Given the description of an element on the screen output the (x, y) to click on. 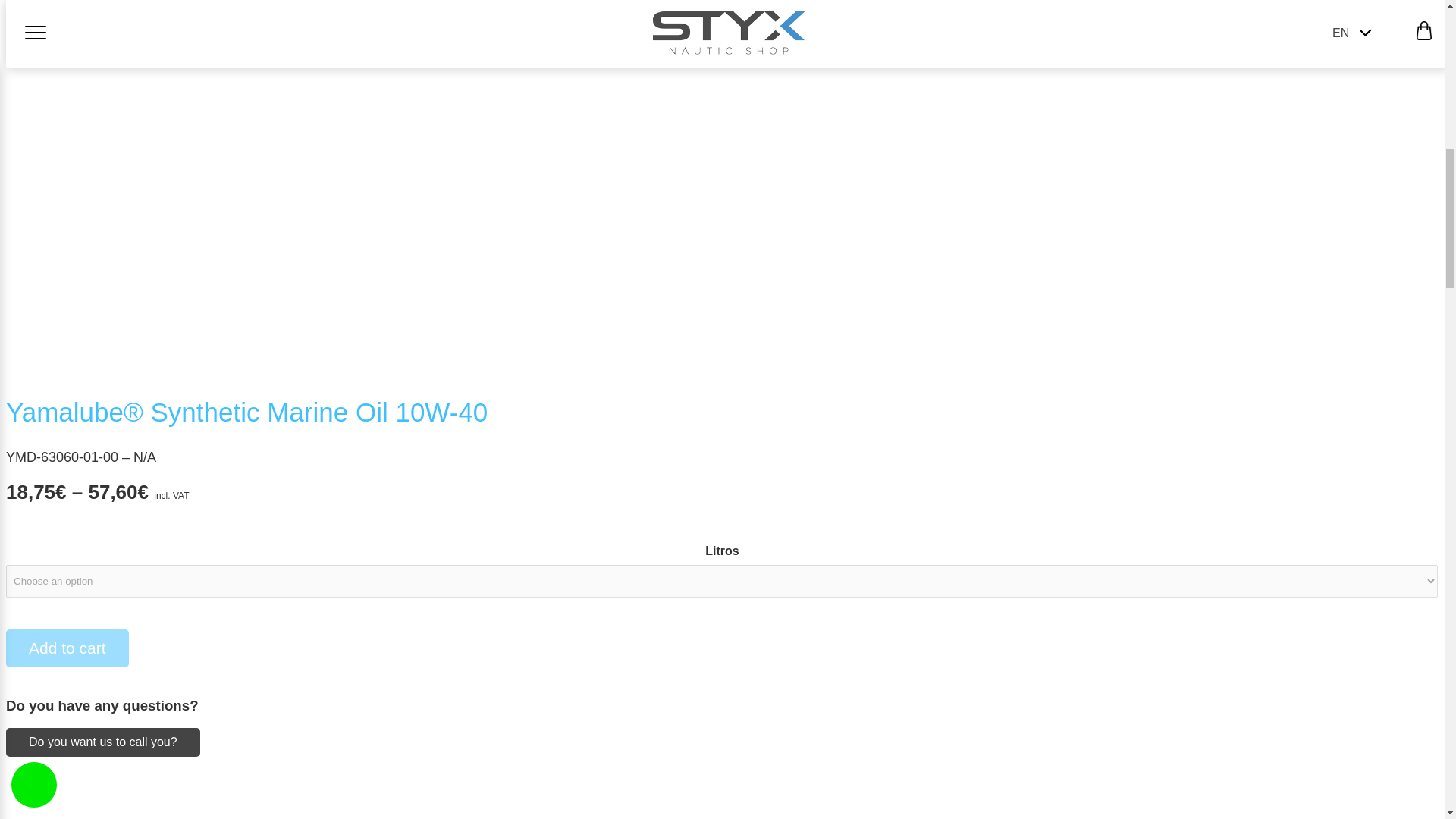
Add to cart (67, 648)
Do you want us to call you? (102, 742)
